Given the description of an element on the screen output the (x, y) to click on. 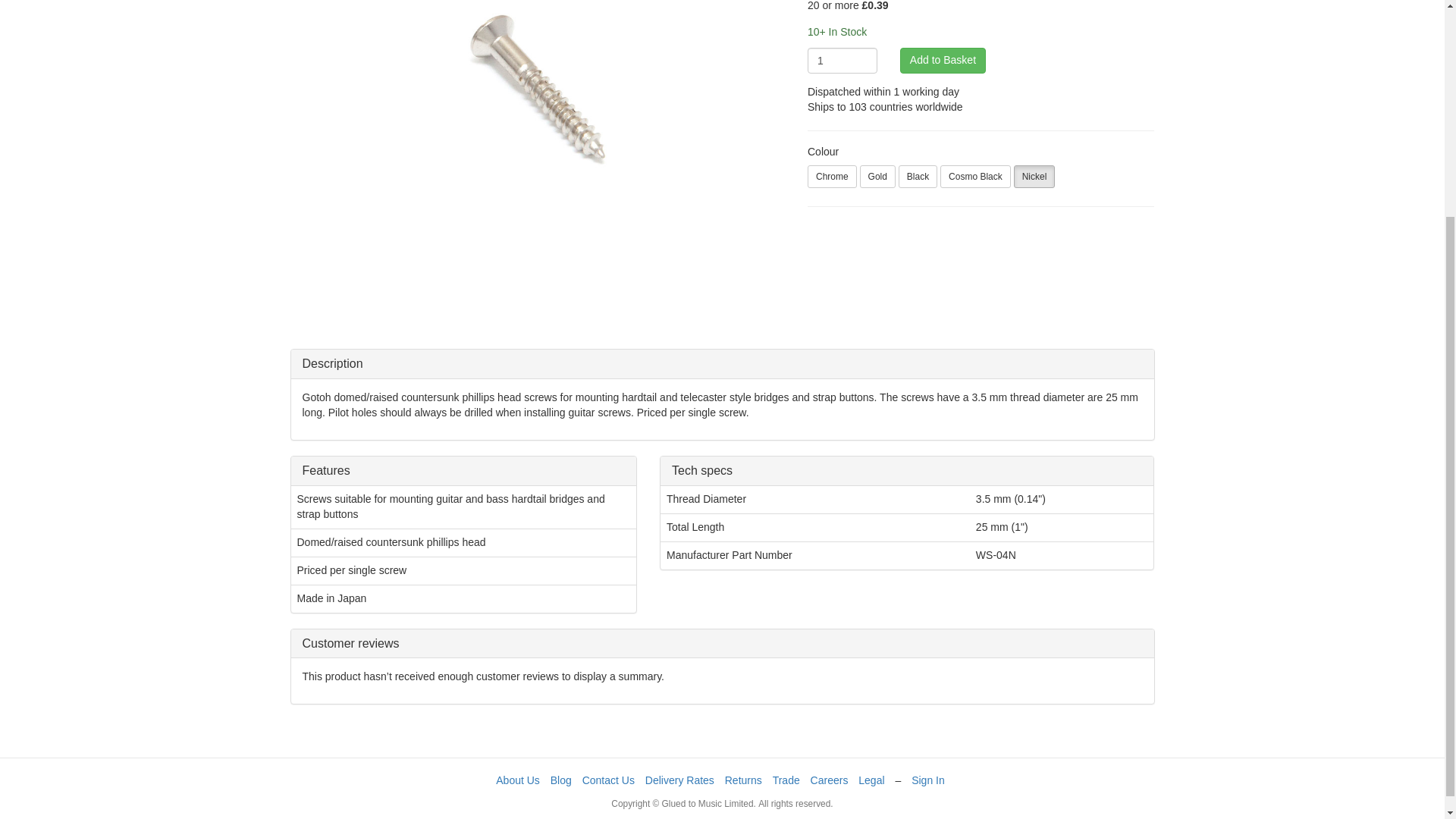
Trade (786, 779)
About Us (518, 779)
Sign In (927, 779)
Legal (871, 779)
Chrome (832, 176)
1 (842, 60)
Black (917, 176)
Gold (877, 176)
Cosmo Black (975, 176)
Delivery Rates (679, 779)
Blog (561, 779)
Careers (829, 779)
Add to Basket (942, 60)
Nickel (1034, 176)
Returns (743, 779)
